Given the description of an element on the screen output the (x, y) to click on. 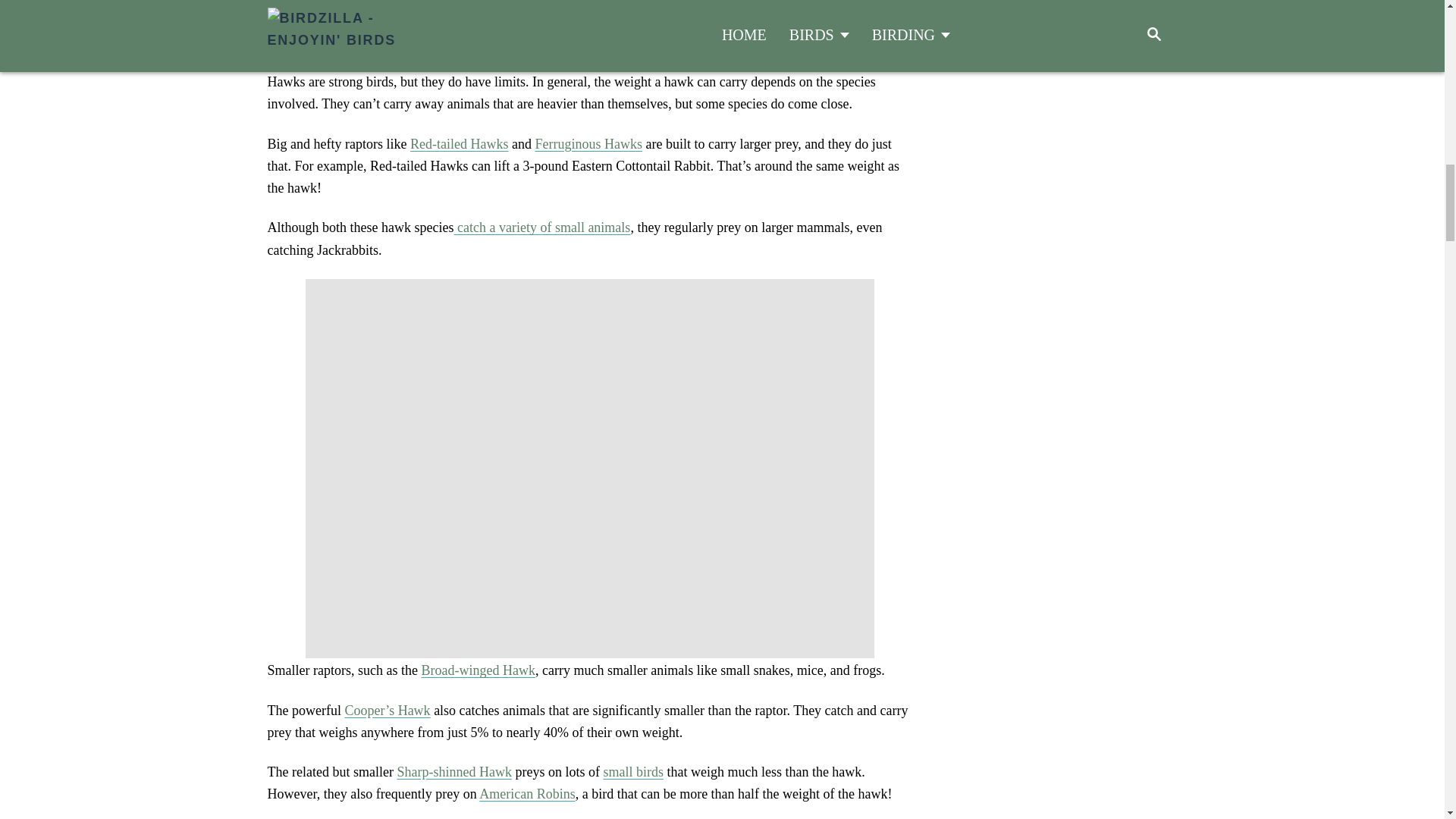
American Robins (527, 793)
Ferruginous Hawks (588, 143)
Red-tailed Hawks (459, 143)
Sharp-shinned Hawk (453, 771)
catch a variety of small animals (541, 227)
small birds (632, 771)
Broad-winged Hawk (477, 670)
